Given the description of an element on the screen output the (x, y) to click on. 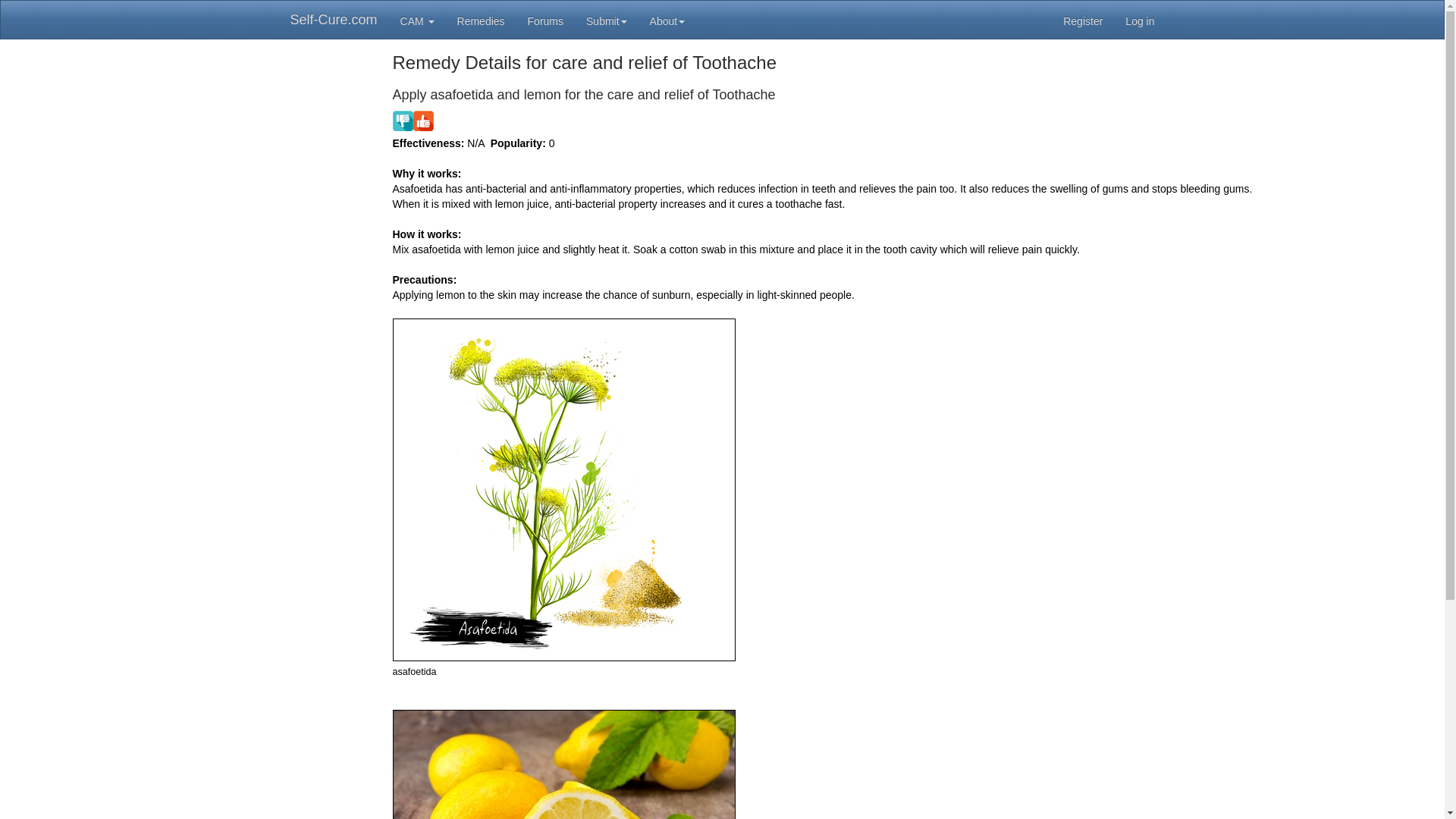
More Information (668, 19)
Submit (607, 19)
Search for remedies for ailment (480, 19)
About (668, 19)
Complementary and Alternative Medicine (416, 19)
Share my experience with this remedy (413, 120)
Remedies (480, 19)
Self-Cure.com (333, 19)
Forums (545, 19)
Self-Cure.com Forums (545, 19)
CAM (416, 19)
